Given the description of an element on the screen output the (x, y) to click on. 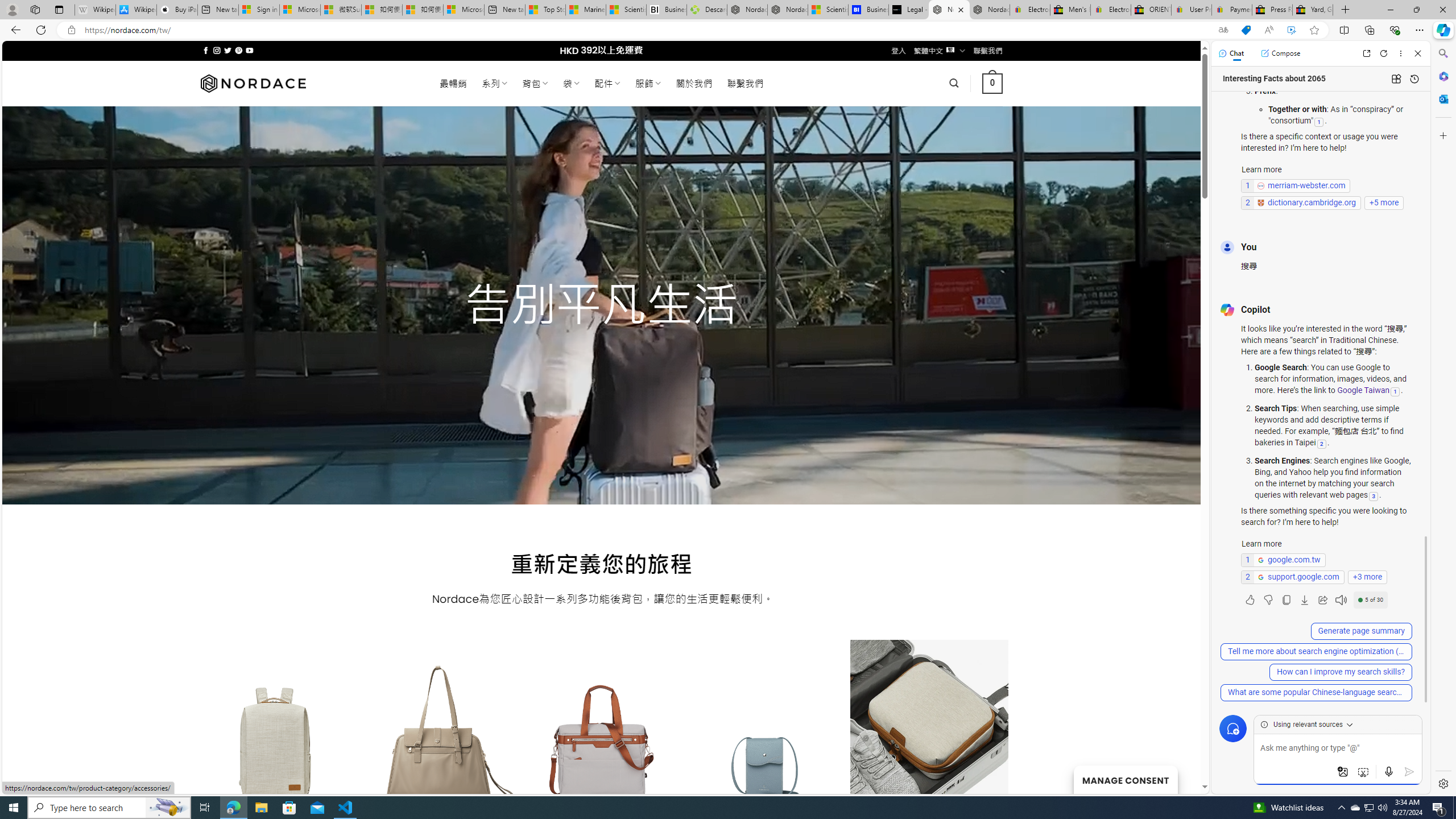
Marine life - MSN (585, 9)
Follow on Twitter (227, 50)
 0  (992, 83)
MANAGE CONSENT (1125, 779)
Compose (1280, 52)
